Given the description of an element on the screen output the (x, y) to click on. 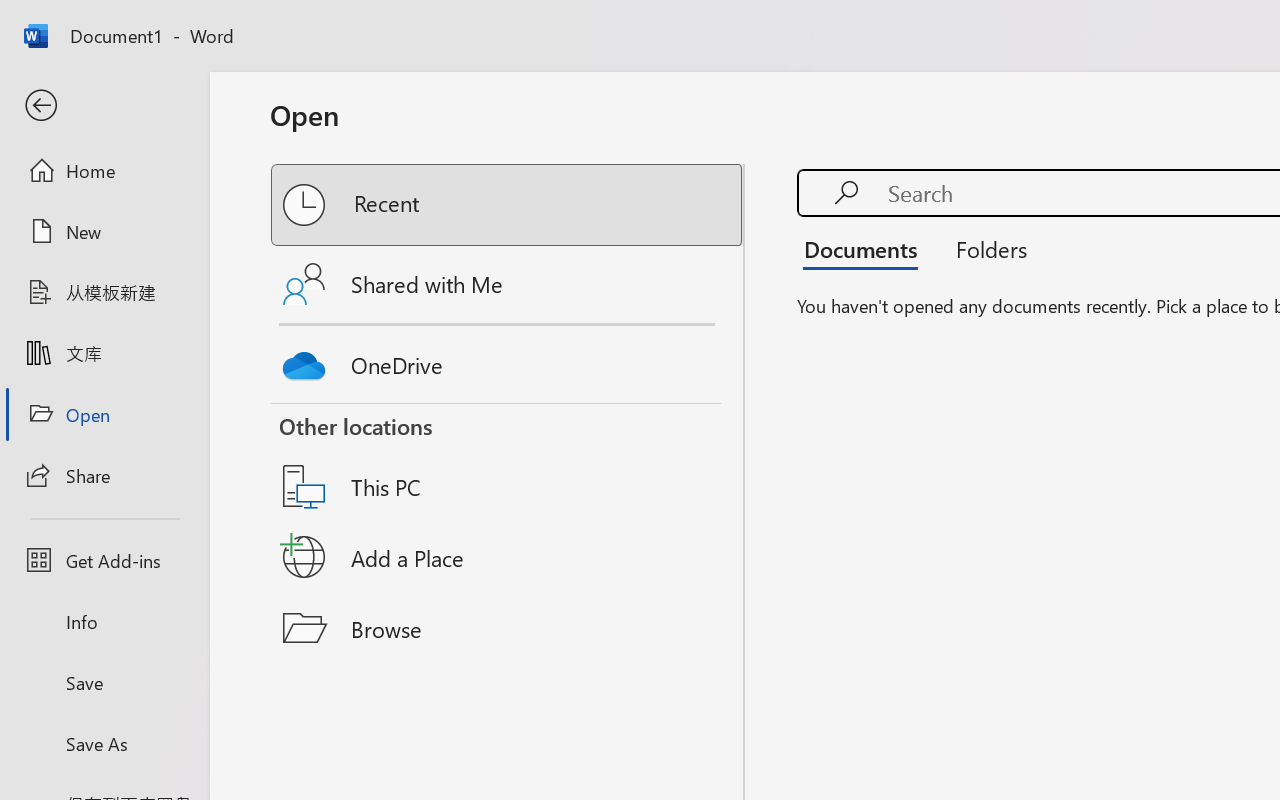
New (104, 231)
OneDrive (507, 359)
This PC (507, 461)
Browse (507, 627)
